Given the description of an element on the screen output the (x, y) to click on. 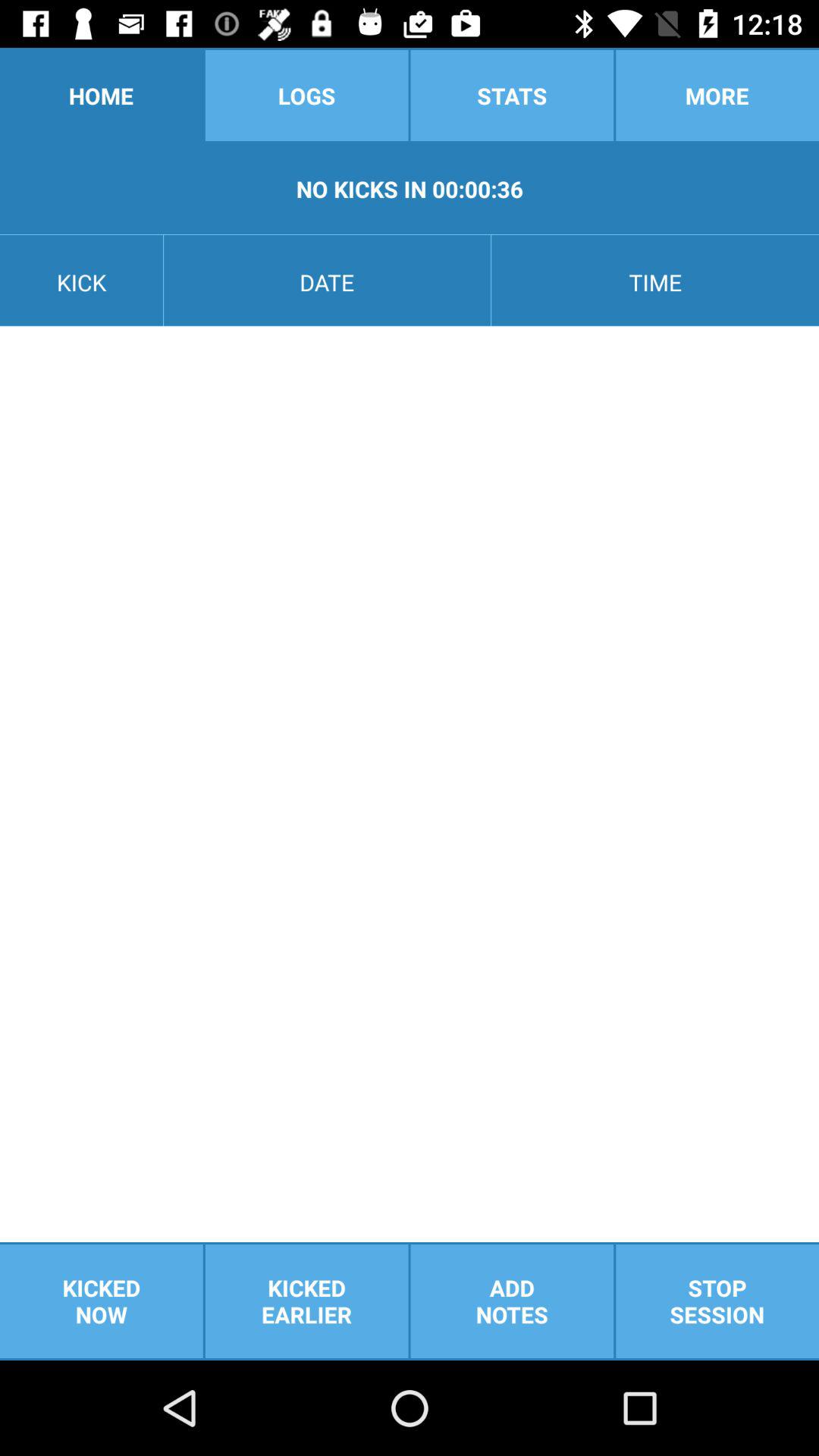
flip to the kicked
now item (101, 1301)
